Given the description of an element on the screen output the (x, y) to click on. 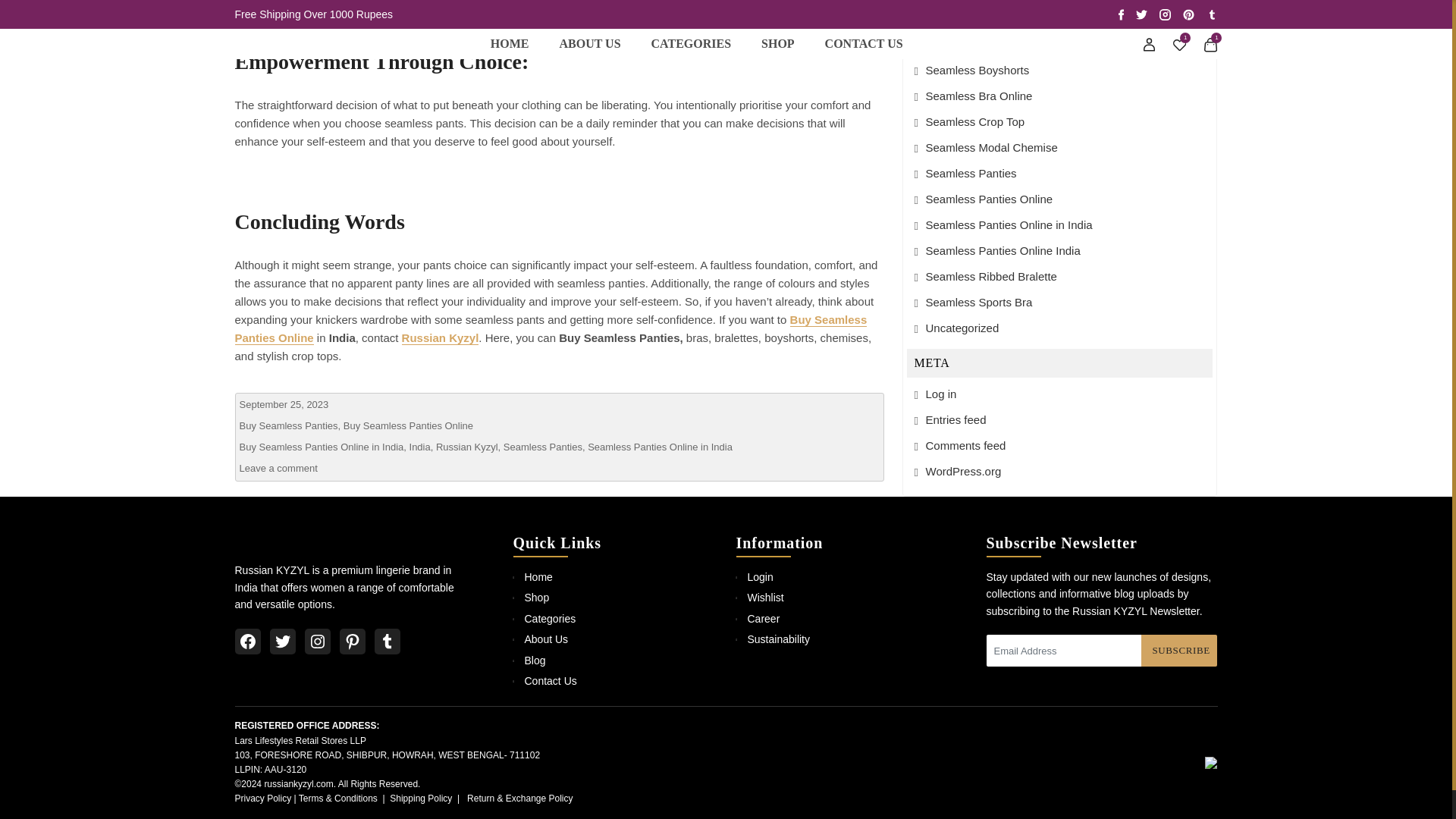
Subscribe (1177, 650)
